Given the description of an element on the screen output the (x, y) to click on. 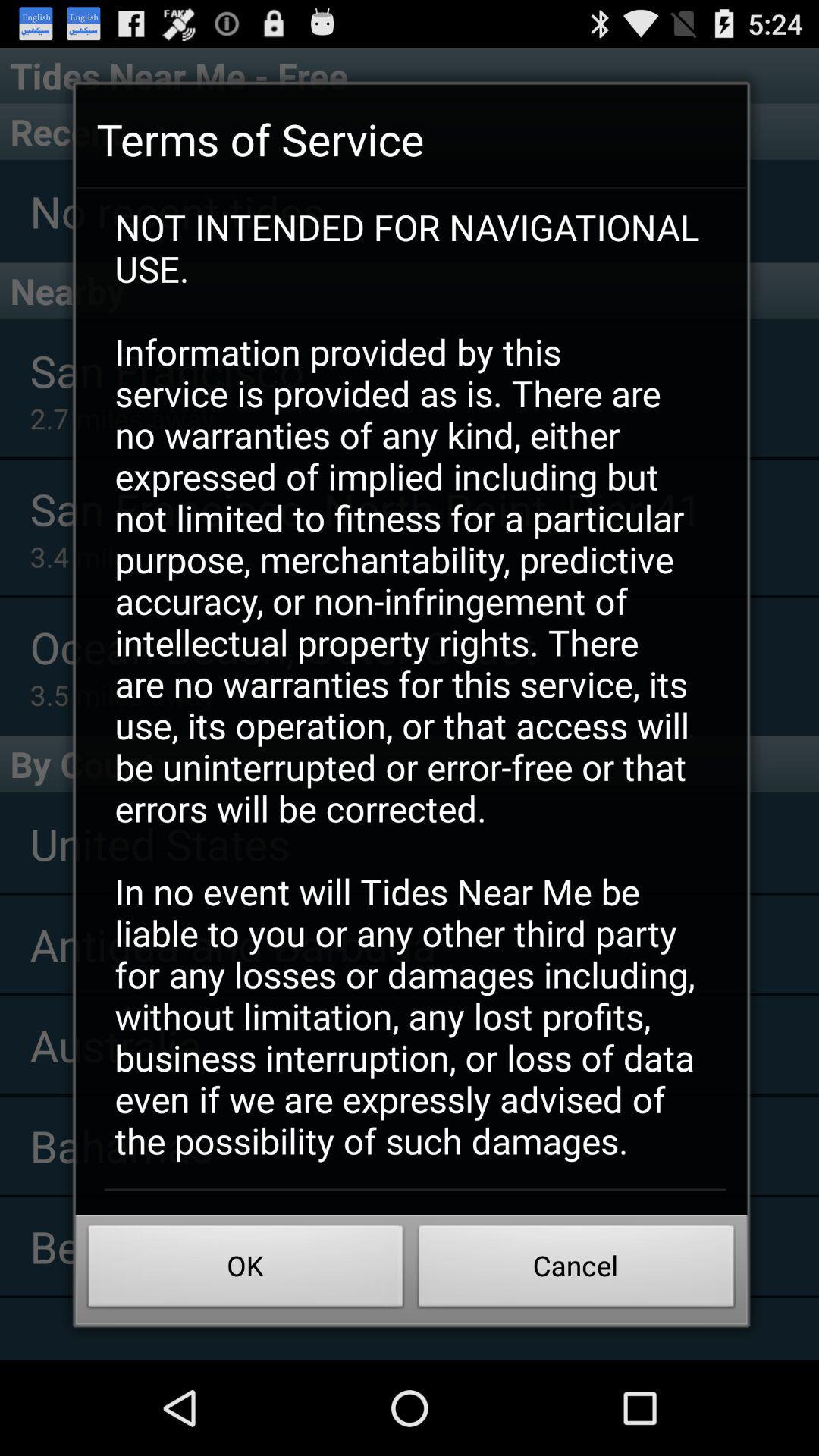
click the item to the left of cancel item (245, 1270)
